Given the description of an element on the screen output the (x, y) to click on. 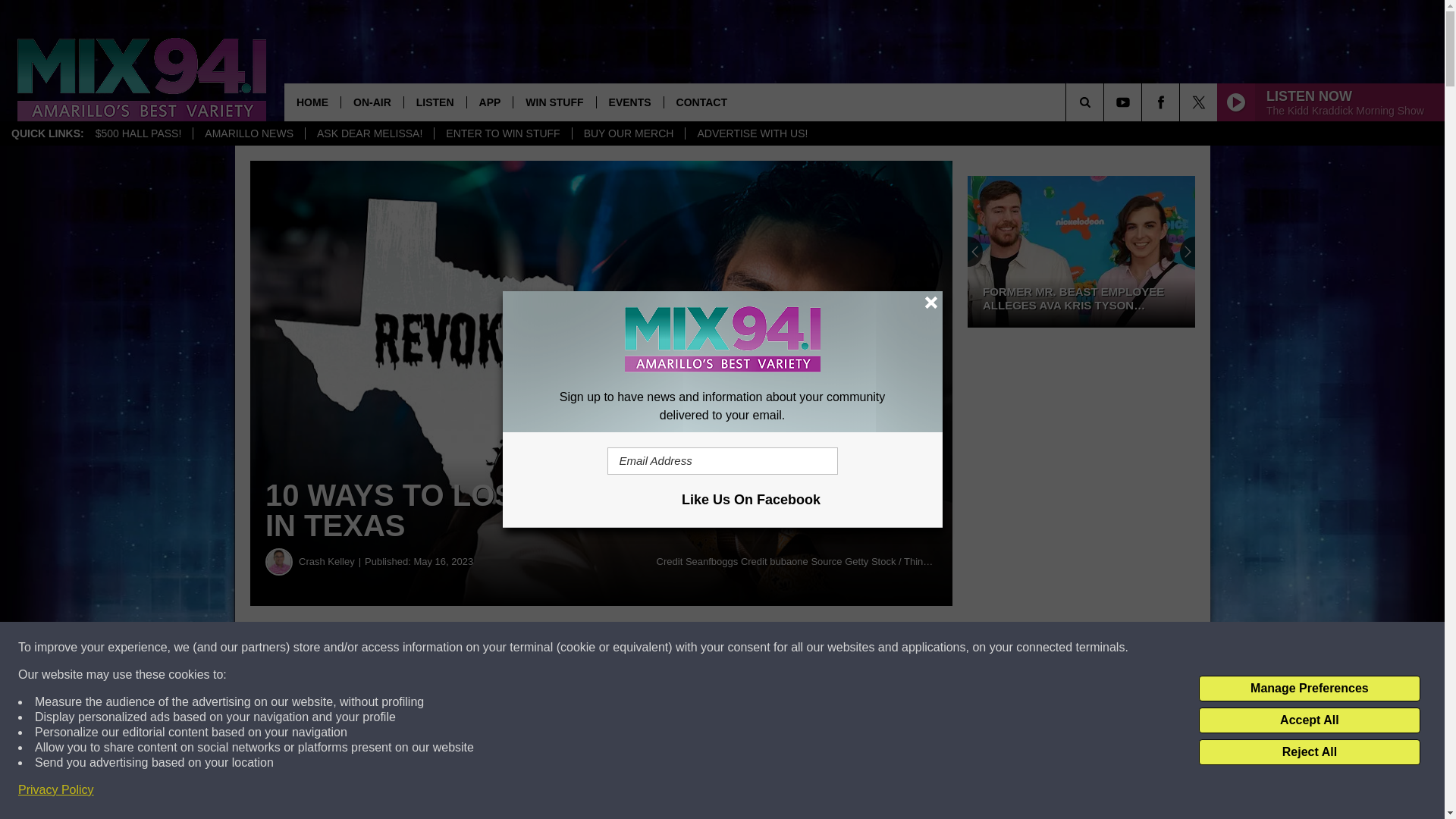
SEARCH (1106, 102)
Reject All (1309, 751)
WIN STUFF (553, 102)
EVENTS (629, 102)
BUY OUR MERCH (628, 133)
Share on Facebook (460, 647)
ON-AIR (371, 102)
Privacy Policy (55, 789)
Email Address (722, 461)
APP (489, 102)
Accept All (1309, 720)
Share on Twitter (741, 647)
SEARCH (1106, 102)
AMARILLO NEWS (248, 133)
HOME (311, 102)
